Given the description of an element on the screen output the (x, y) to click on. 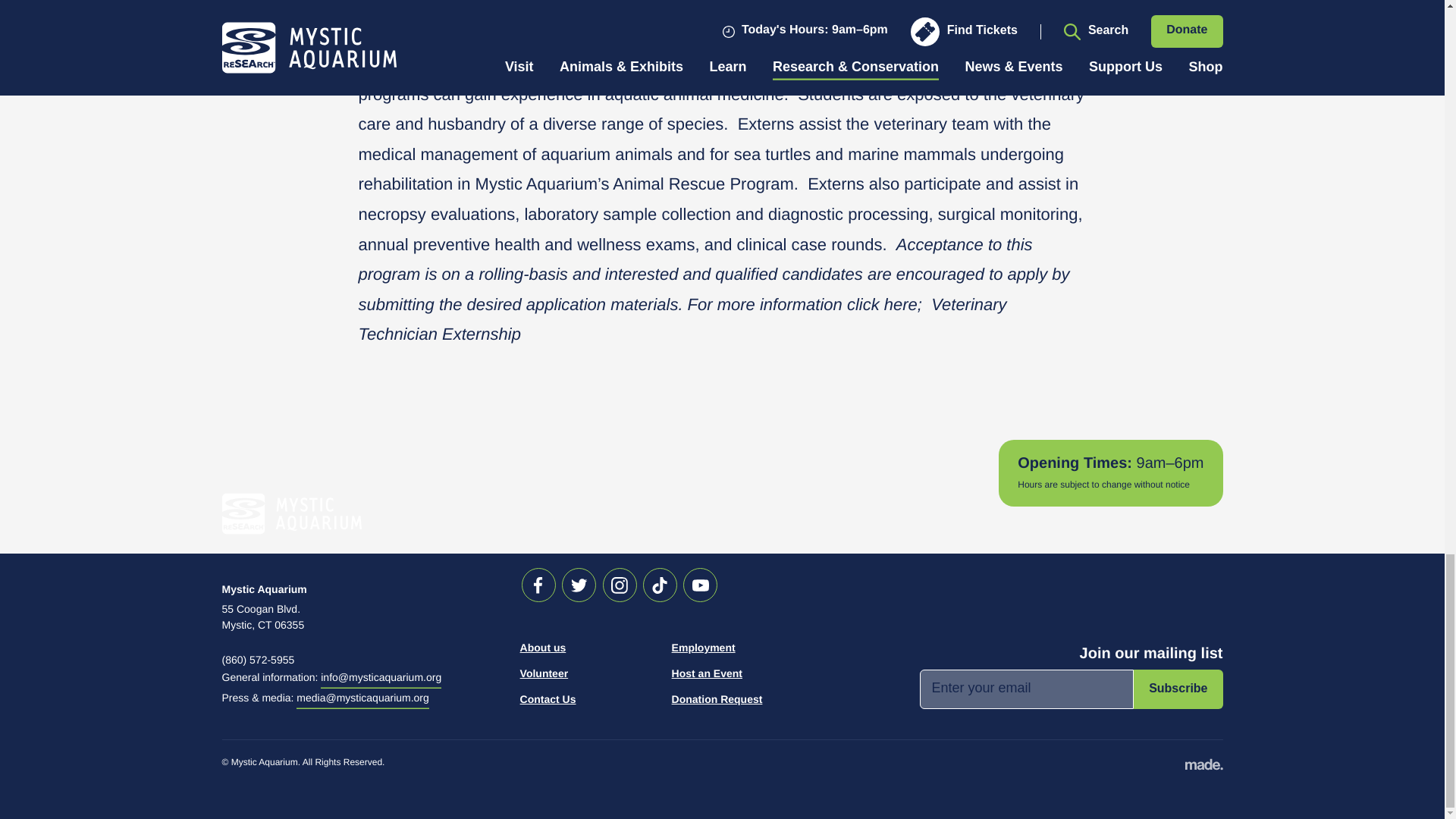
Vet Tech Externship (682, 320)
Subscribe (1178, 689)
